Given the description of an element on the screen output the (x, y) to click on. 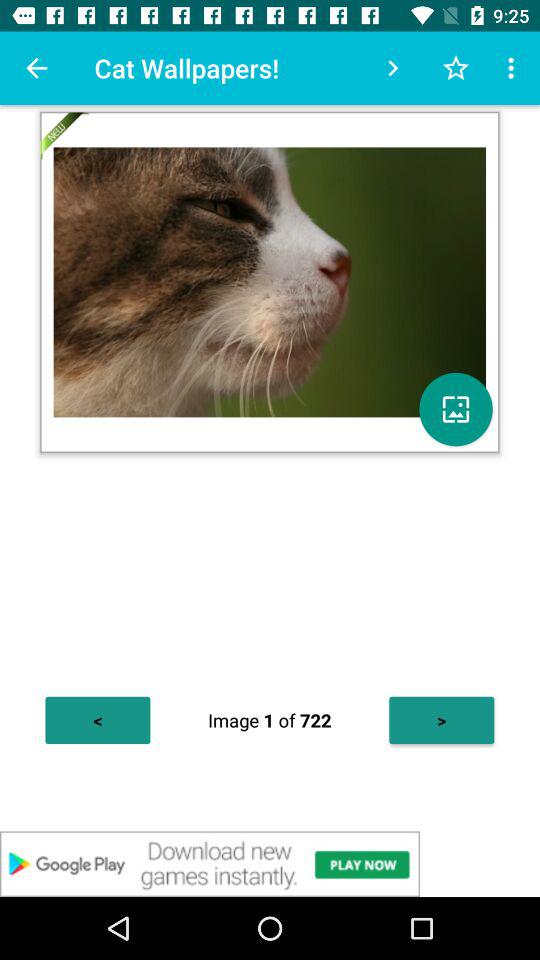
view wallpaper picture (455, 409)
